Given the description of an element on the screen output the (x, y) to click on. 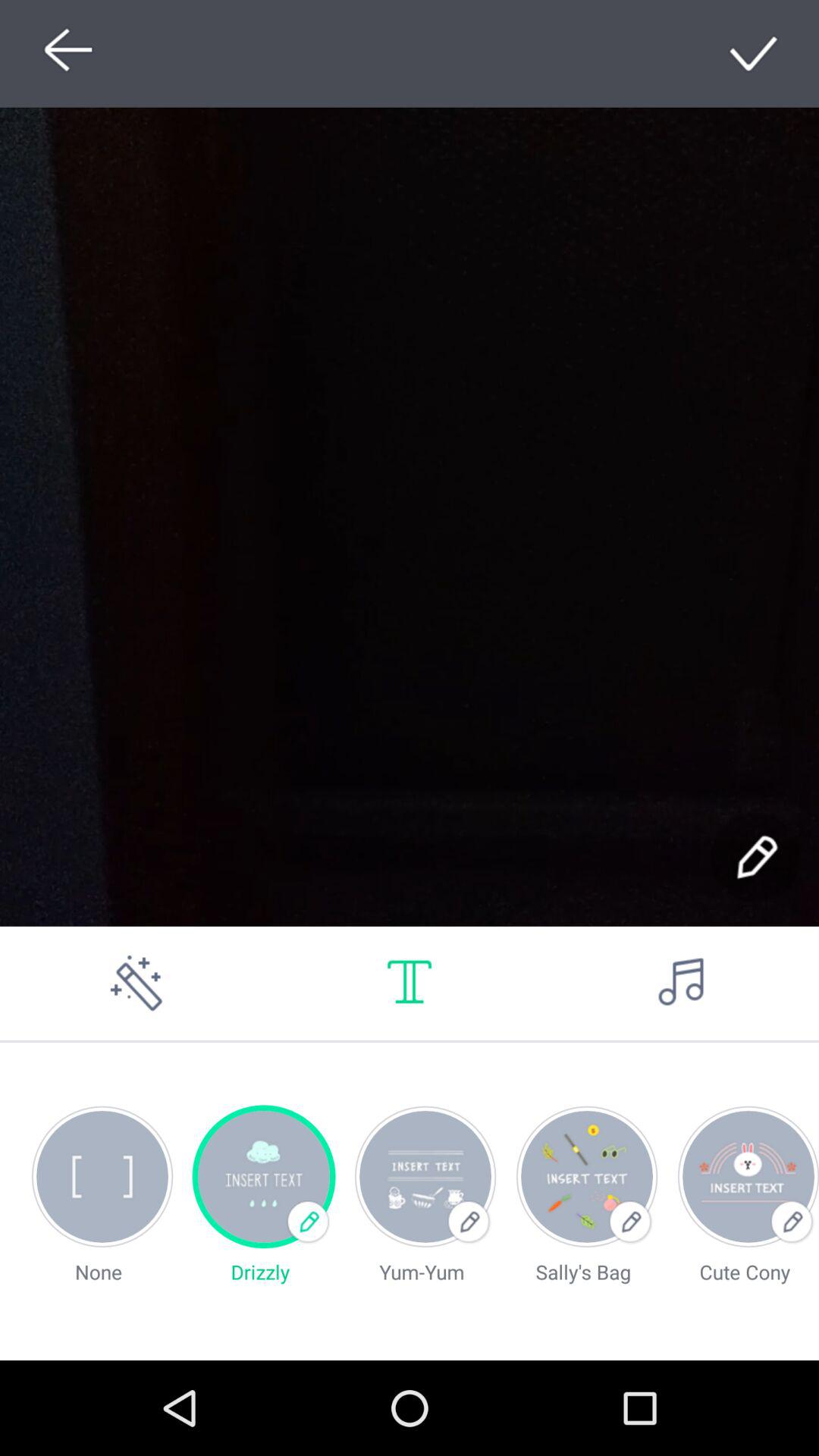
insert music (682, 983)
